Given the description of an element on the screen output the (x, y) to click on. 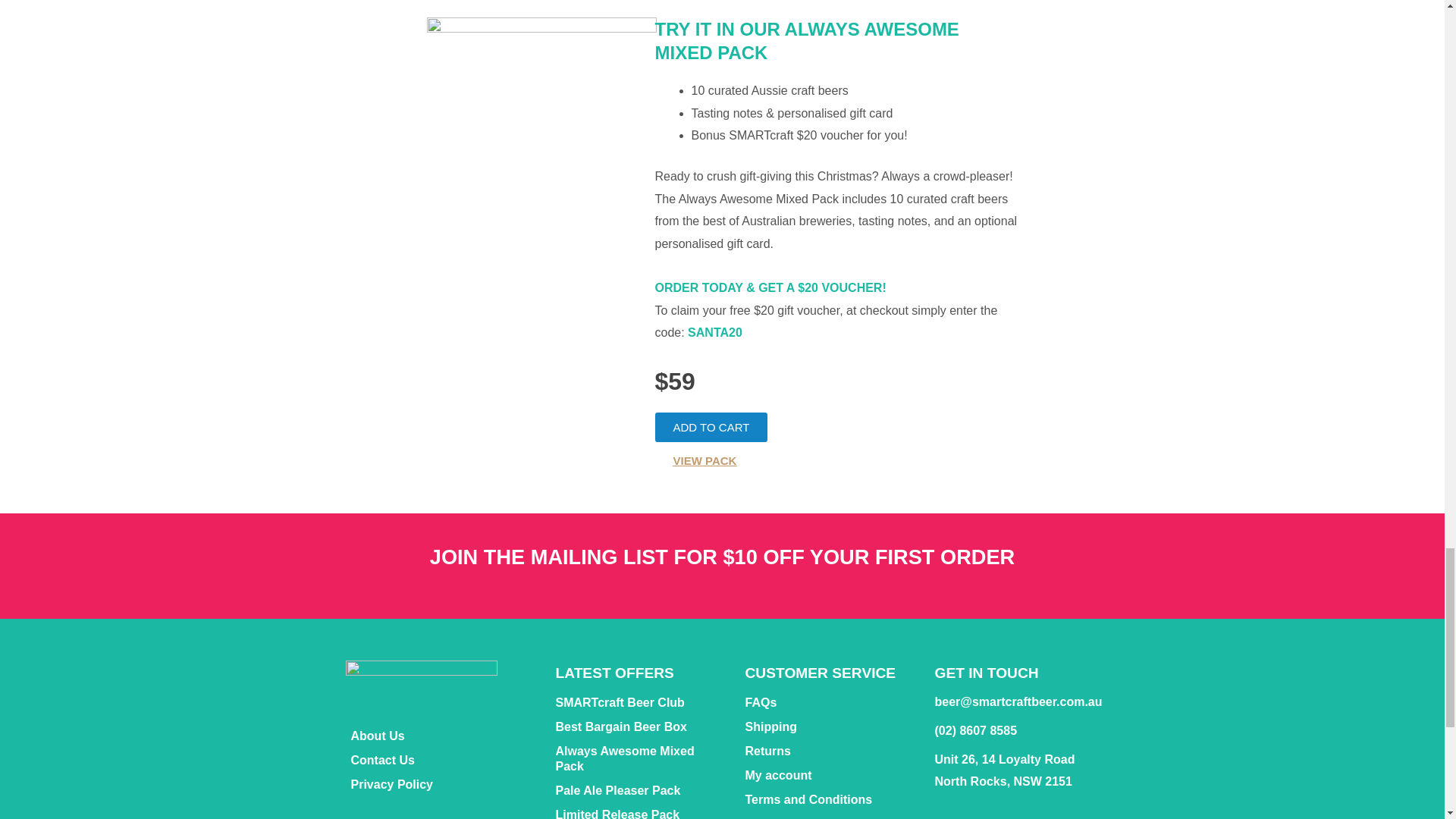
Shipping (827, 726)
Best Bargain Beer Box (638, 726)
Pale Ale Pleaser Pack (638, 790)
FAQs (827, 702)
Privacy Policy (437, 784)
Limited Release Pack (638, 811)
VIEW PACK (705, 460)
About Us (437, 735)
Always Awesome Mixed Pack (638, 758)
SMARTcraft Beer Club (638, 702)
ADD TO CART (711, 427)
Contact Us (437, 760)
